Given the description of an element on the screen output the (x, y) to click on. 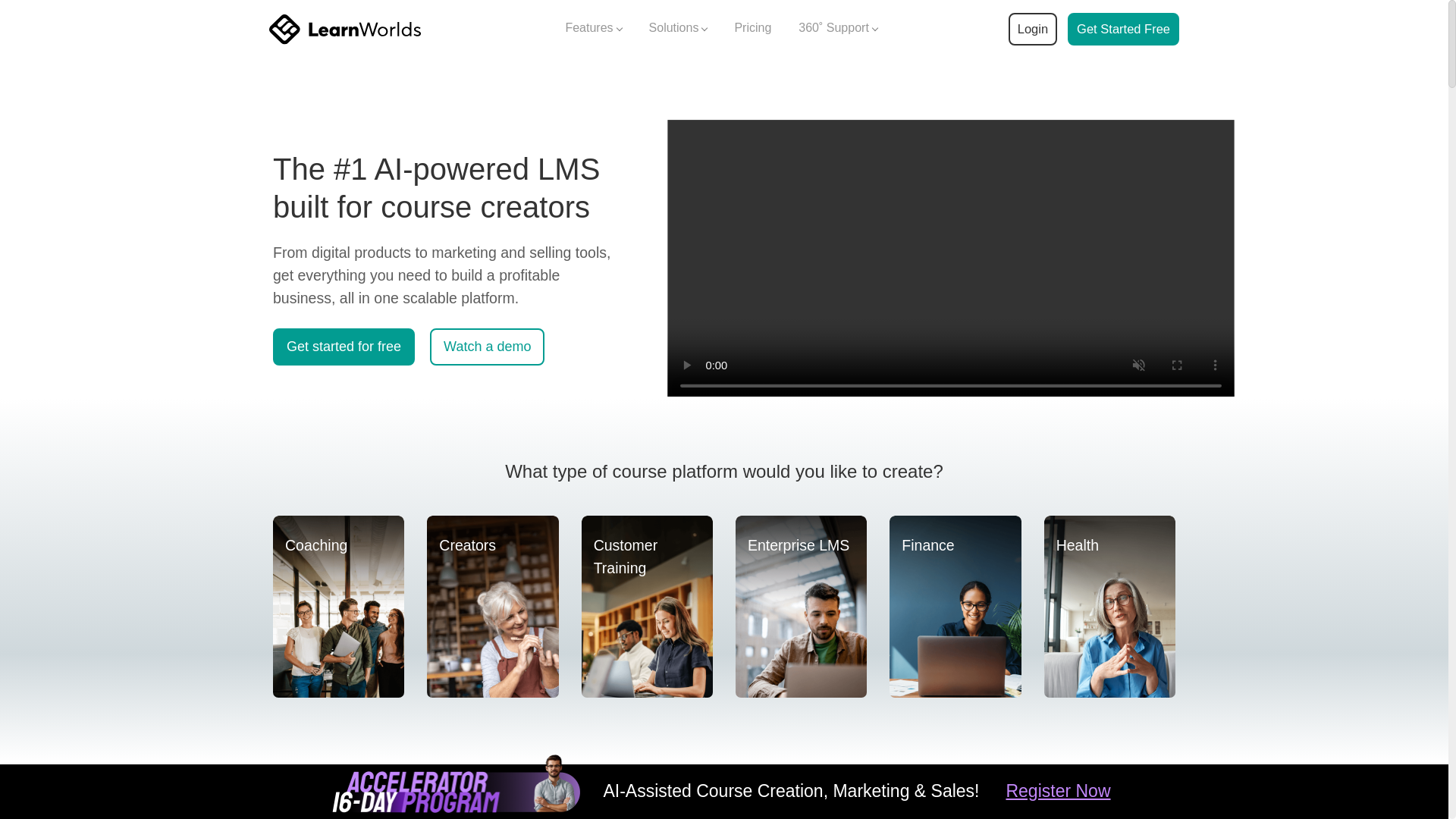
LearnWorlds home (344, 28)
Login to your LearnWorlds account (1032, 29)
Features (592, 29)
Start your demo with LearnWorlds (1123, 29)
